Given the description of an element on the screen output the (x, y) to click on. 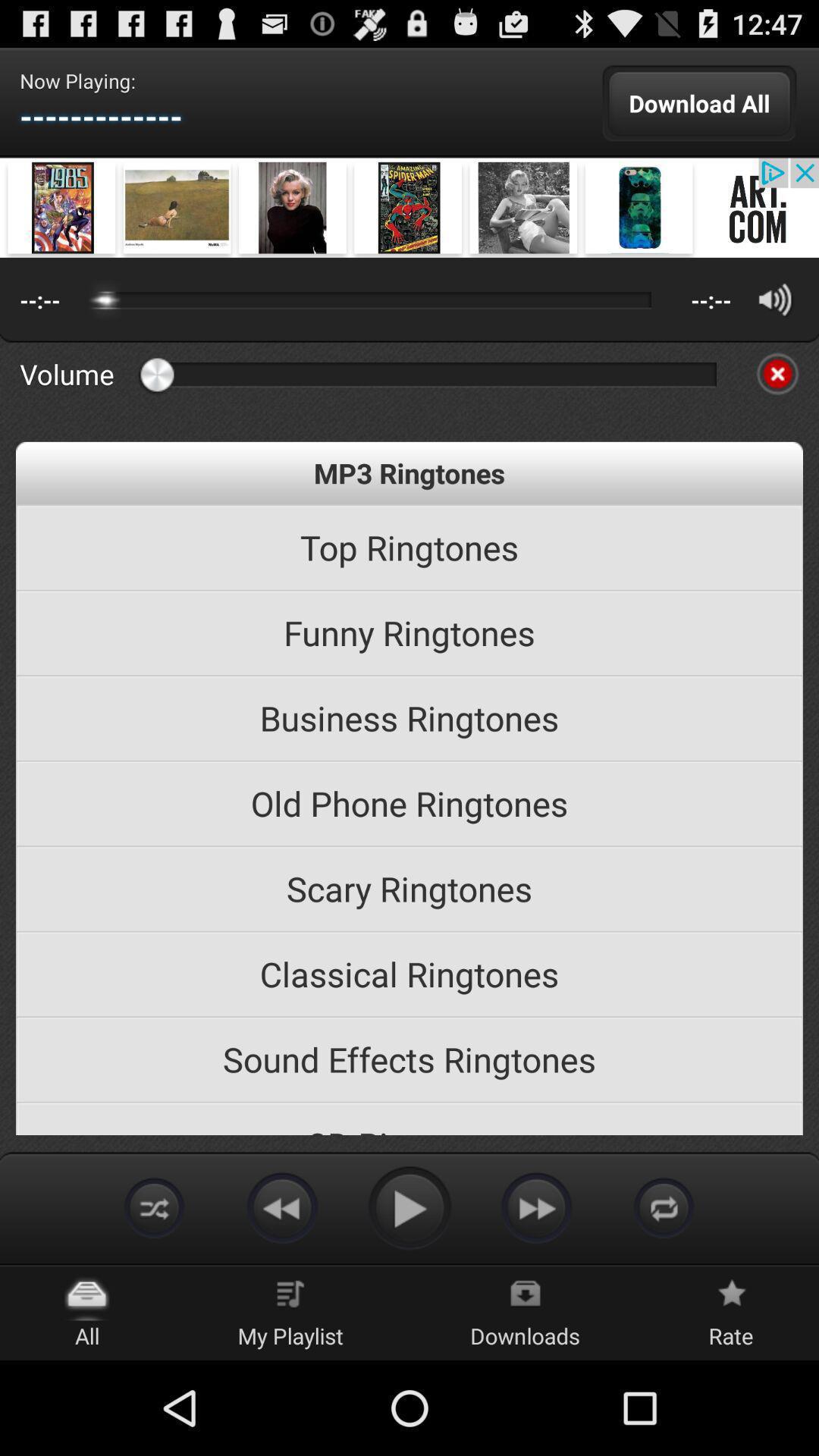
the button is used to shuffle the songs (154, 1207)
